Given the description of an element on the screen output the (x, y) to click on. 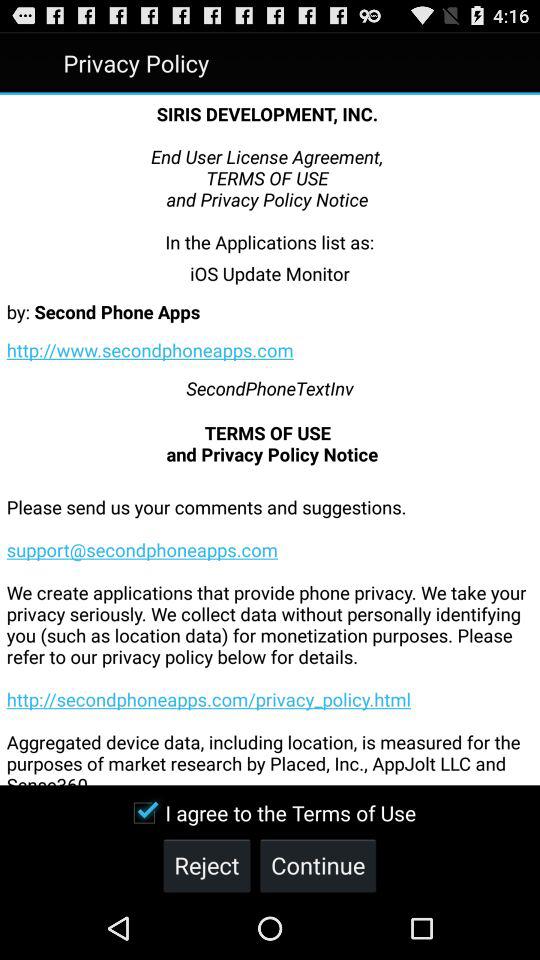
swipe until the i agree to checkbox (269, 812)
